Given the description of an element on the screen output the (x, y) to click on. 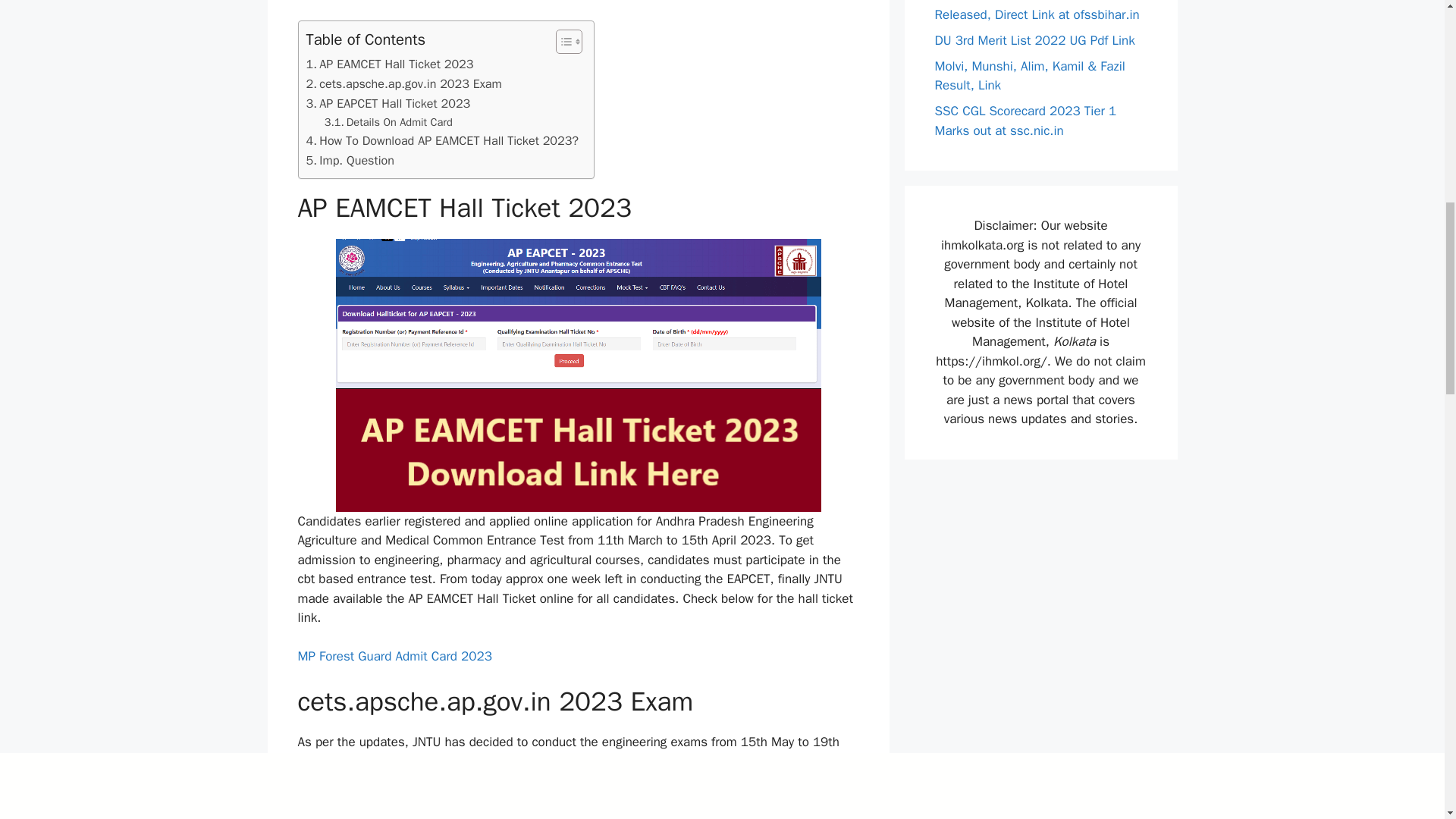
AP EAMCET Hall Ticket 2023 (389, 64)
MP Forest Guard Admit Card 2023 (394, 656)
AP EAPCET Hall Ticket 2023 (387, 103)
Imp. Question (349, 160)
Advertisement (577, 4)
Imp. Question (349, 160)
How To Download AP EAMCET Hall Ticket 2023? (442, 140)
AP EAMCET Hall Ticket 2023 (389, 64)
How To Download AP EAMCET Hall Ticket 2023? (442, 140)
AP EAPCET Hall Ticket 2023 (387, 103)
